Given the description of an element on the screen output the (x, y) to click on. 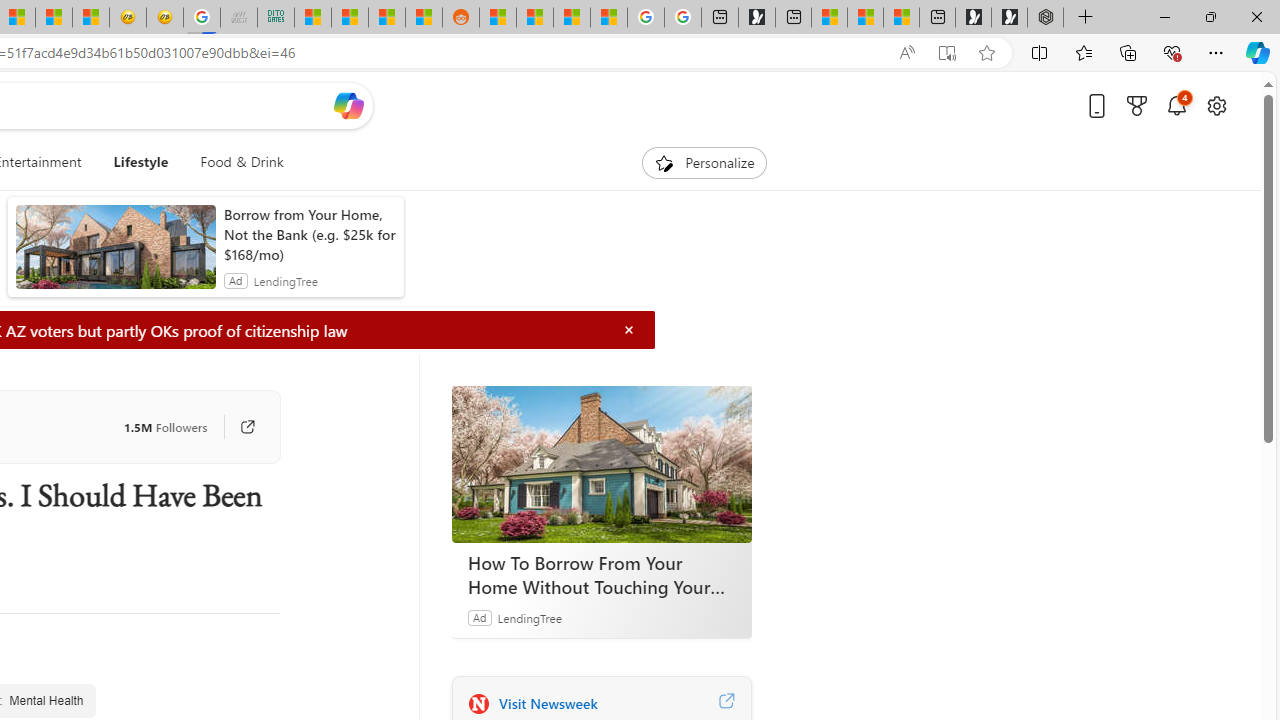
Hide (629, 329)
These 3 Stocks Pay You More Than 5% to Own Them (901, 17)
